Given the description of an element on the screen output the (x, y) to click on. 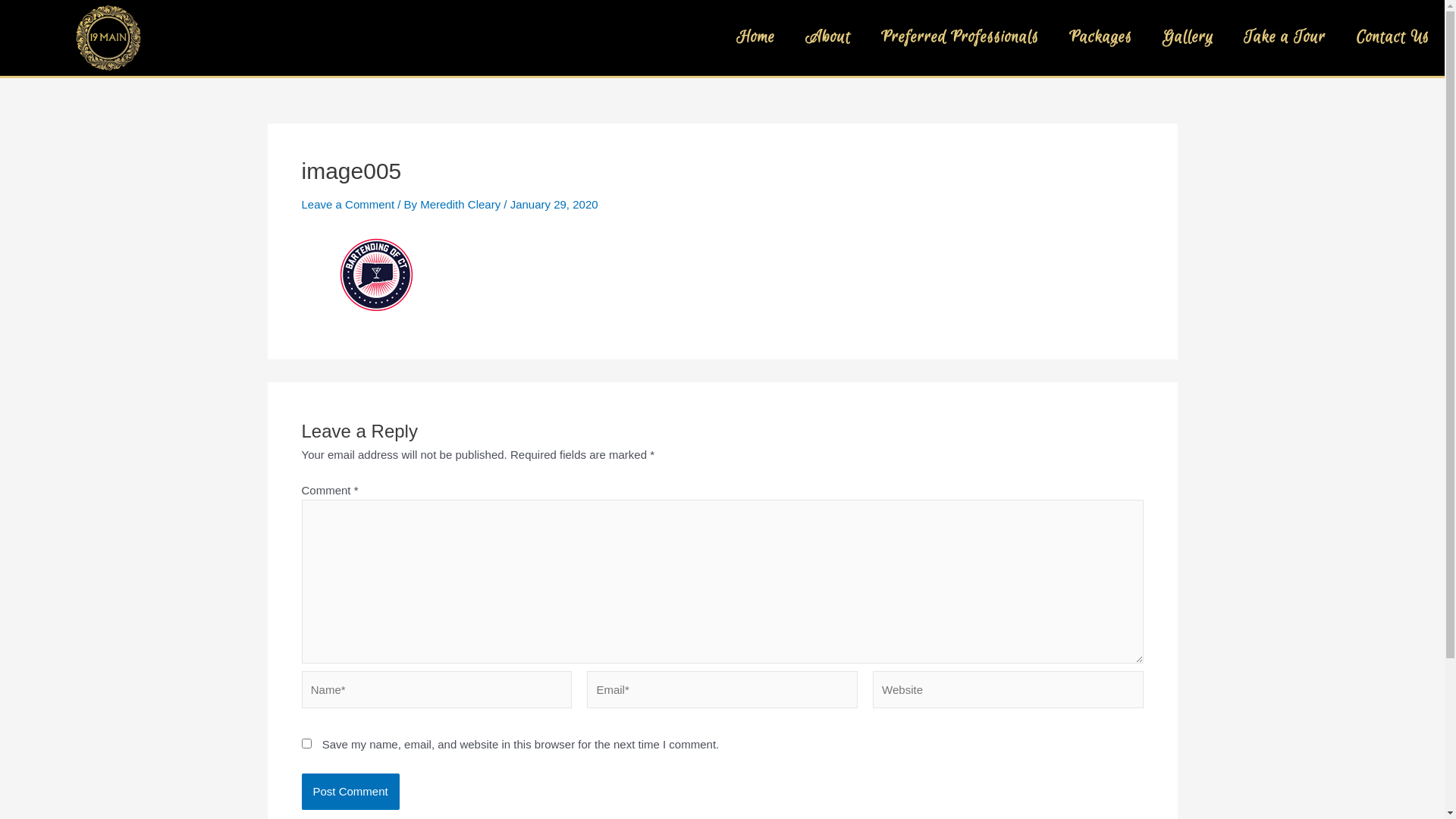
Post Comment Element type: text (350, 791)
Contact Us Element type: text (1392, 38)
Gallery Element type: text (1187, 38)
19 Main St New Milford Logo Element type: hover (108, 37)
Meredith Cleary Element type: text (461, 203)
Packages Element type: text (1100, 38)
Preferred Professionals Element type: text (960, 38)
Leave a Comment Element type: text (348, 203)
Home Element type: text (755, 38)
About Element type: text (828, 38)
Take a Tour Element type: text (1284, 38)
